Given the description of an element on the screen output the (x, y) to click on. 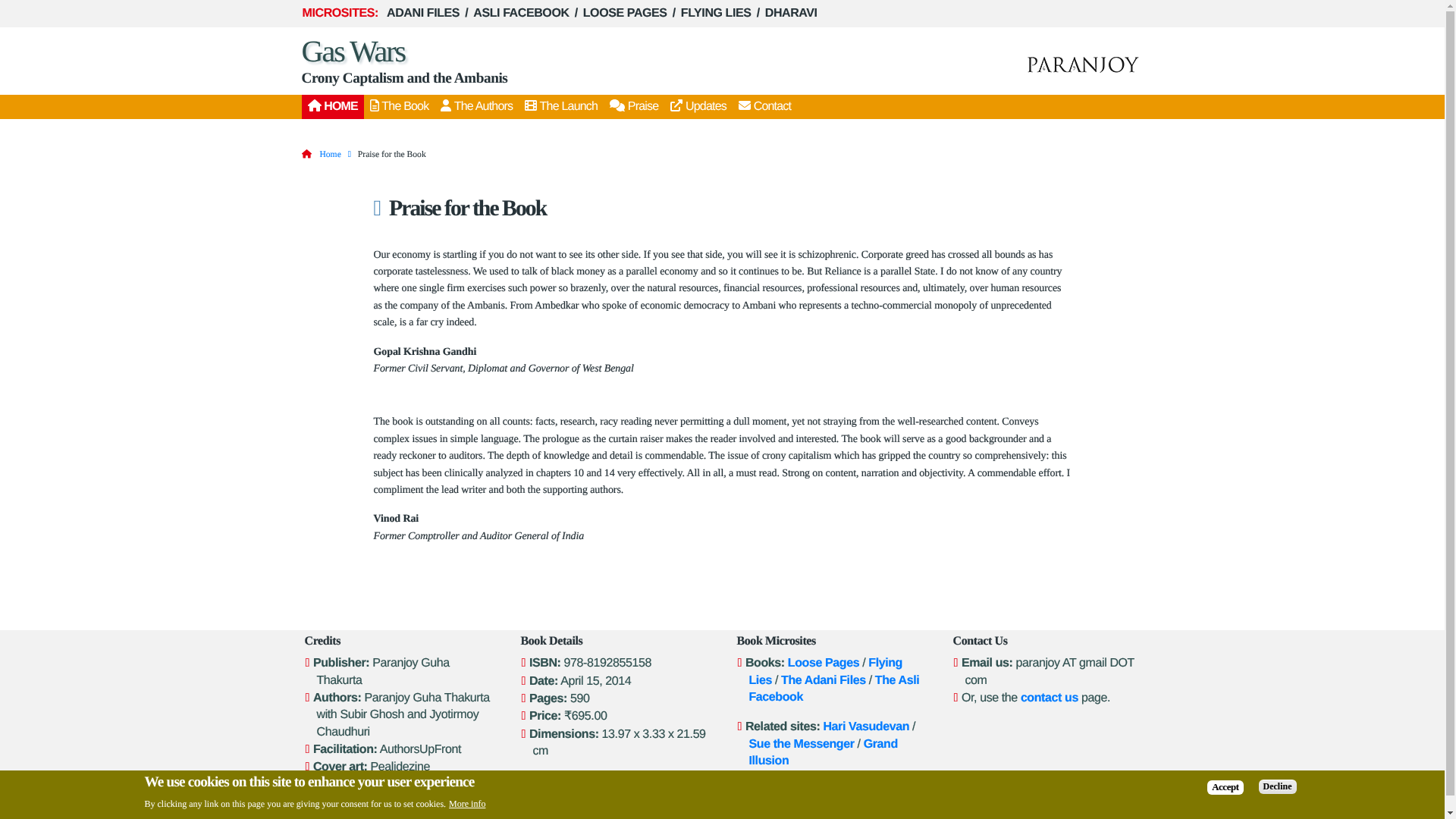
Sue the Messenger (801, 744)
Loose Pages (823, 662)
The Launch (561, 106)
Loose Pages (823, 662)
The Asli Facebook (834, 688)
Home (329, 153)
DHARAVI (790, 13)
ADANI FILES (422, 13)
Inscriptions (1119, 818)
The Authors (475, 106)
Paranjoy (1082, 64)
Subir Ghosh (467, 818)
Hari Vasudevan (865, 726)
Sue the Messenger (801, 744)
FLYING LIES (716, 13)
